Given the description of an element on the screen output the (x, y) to click on. 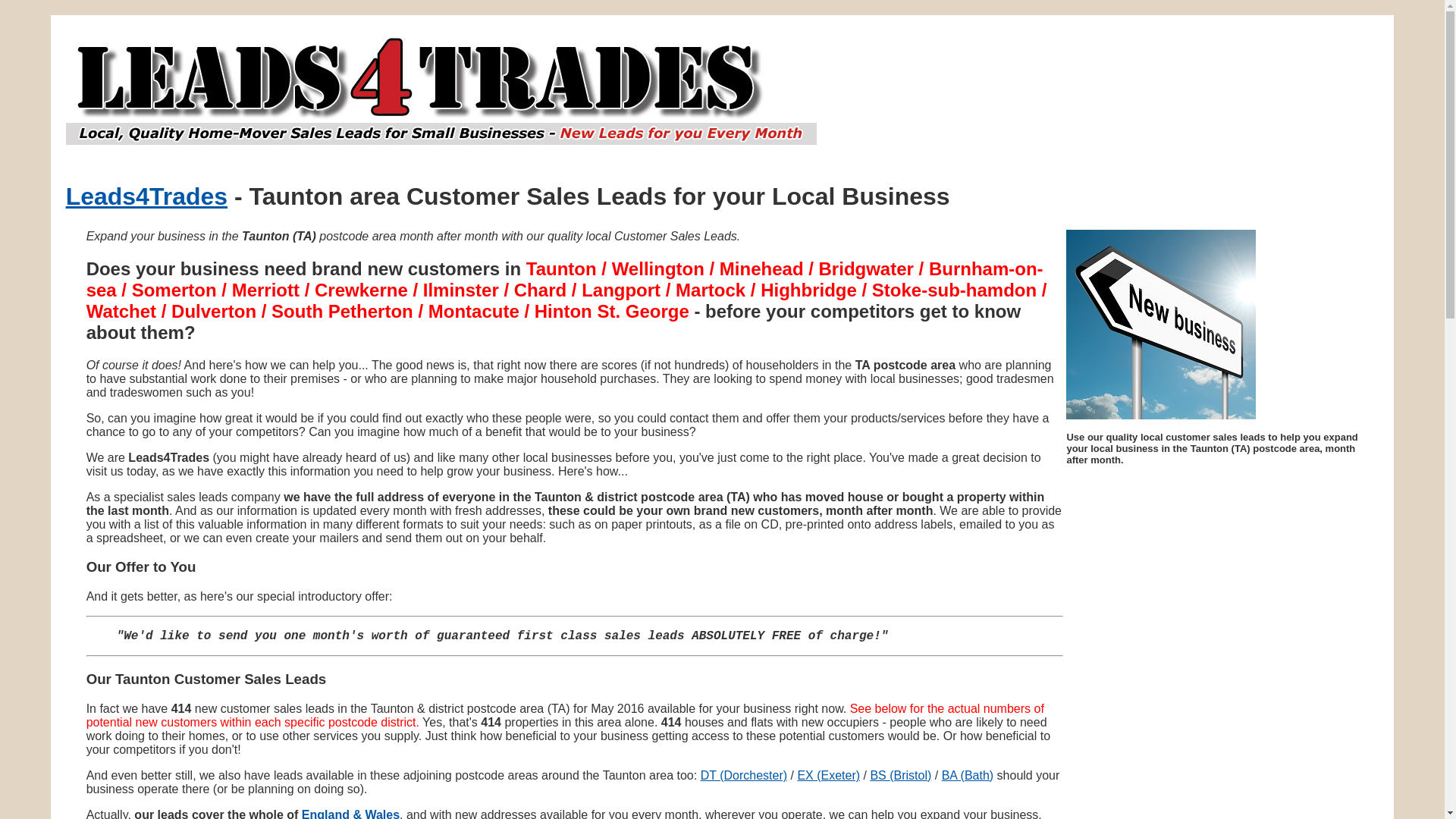
customer sales leads in Bath (967, 775)
customer sales leads in Dorchester (743, 775)
customer sales leads in Bristol (900, 775)
Leads4Trades (146, 195)
customer sales leads in Exeter (828, 775)
